Given the description of an element on the screen output the (x, y) to click on. 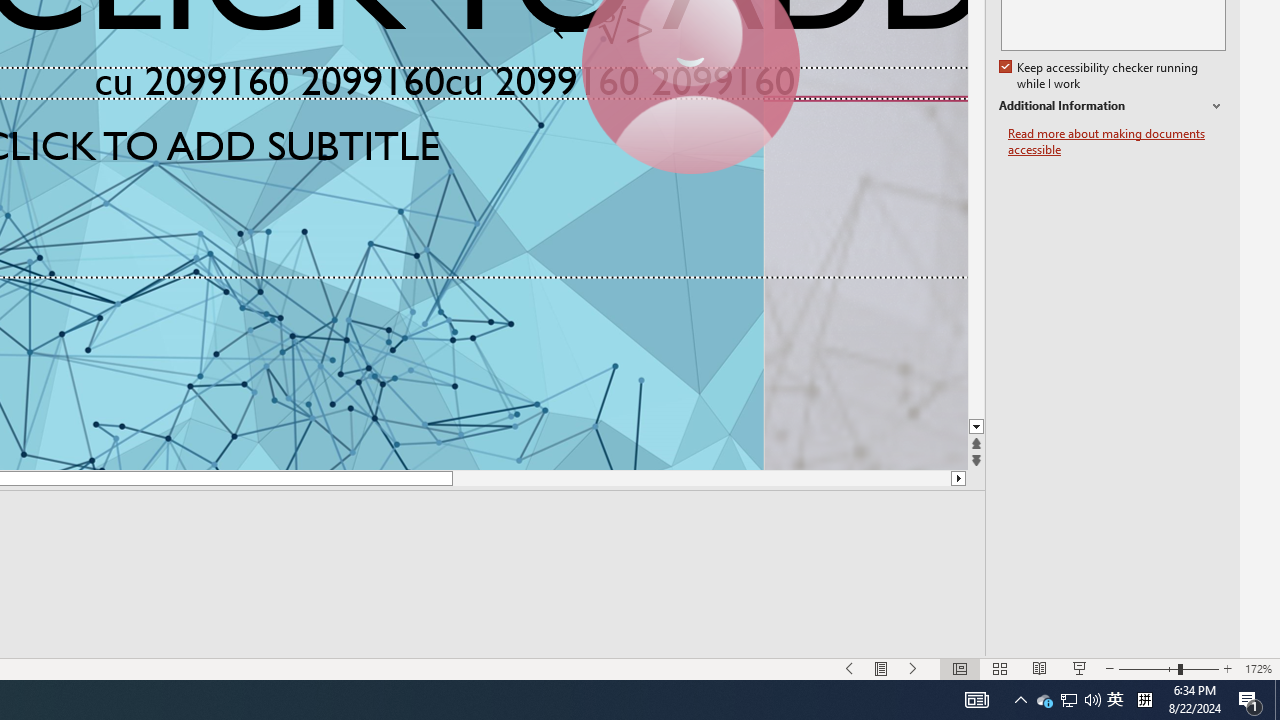
Zoom 172% (1258, 668)
Slide Show Previous On (850, 668)
Menu On (882, 668)
Read more about making documents accessible (1117, 142)
Slide Show Next On (914, 668)
